Given the description of an element on the screen output the (x, y) to click on. 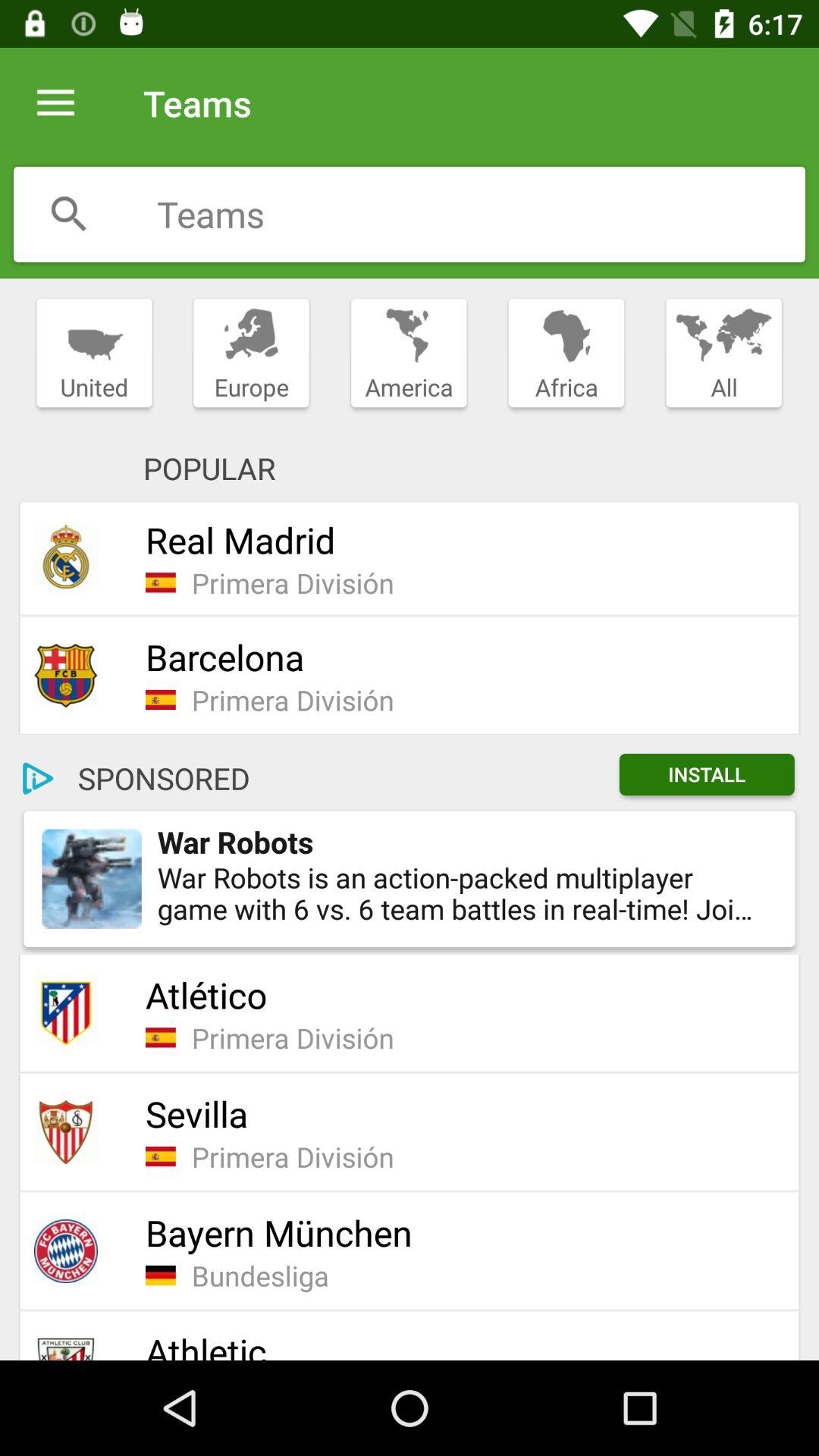
tap item next to africa icon (723, 353)
